Given the description of an element on the screen output the (x, y) to click on. 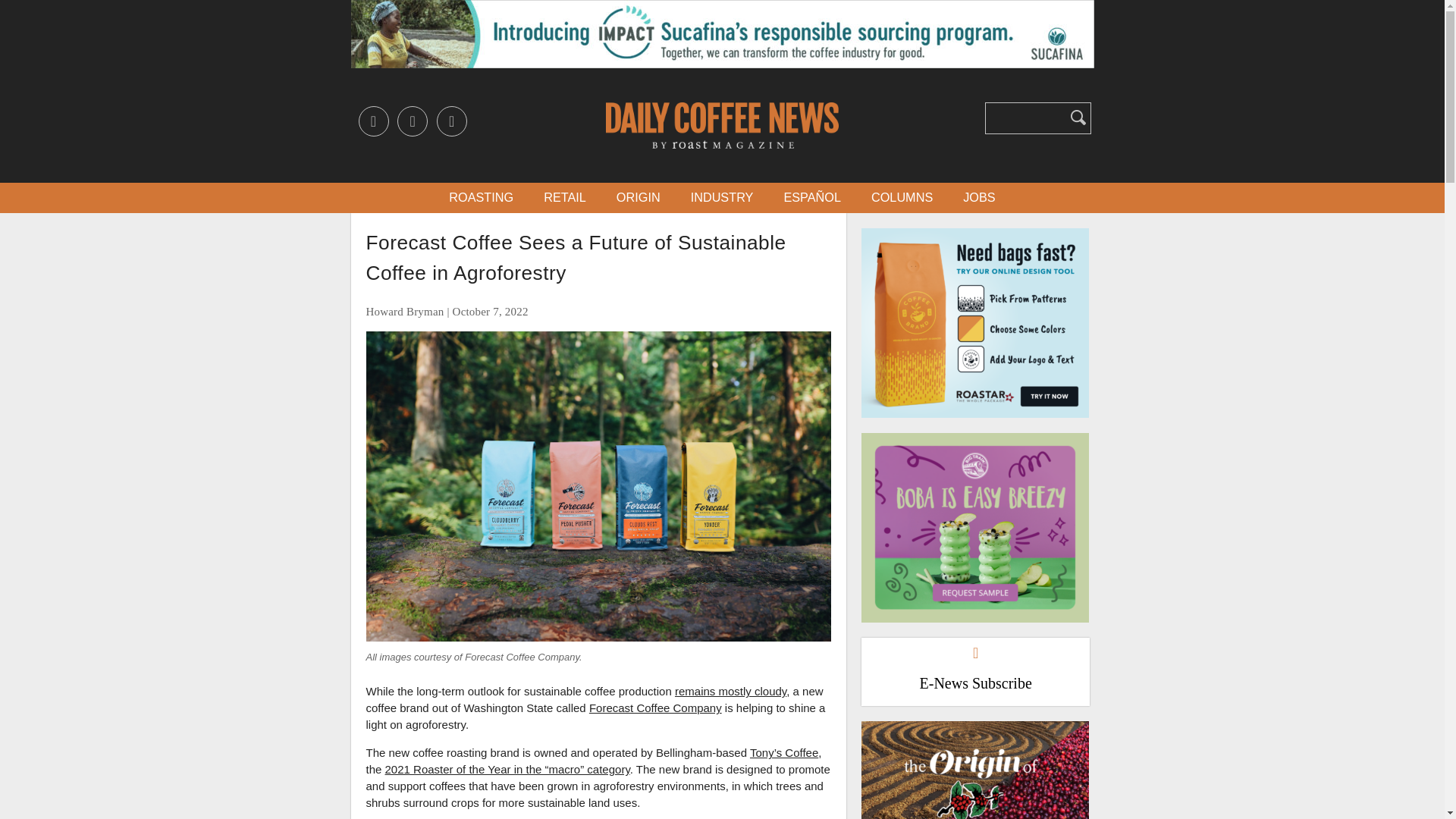
Search (1078, 117)
ROASTING (480, 197)
Search (1078, 117)
Search (1078, 117)
RETAIL (564, 197)
